Given the description of an element on the screen output the (x, y) to click on. 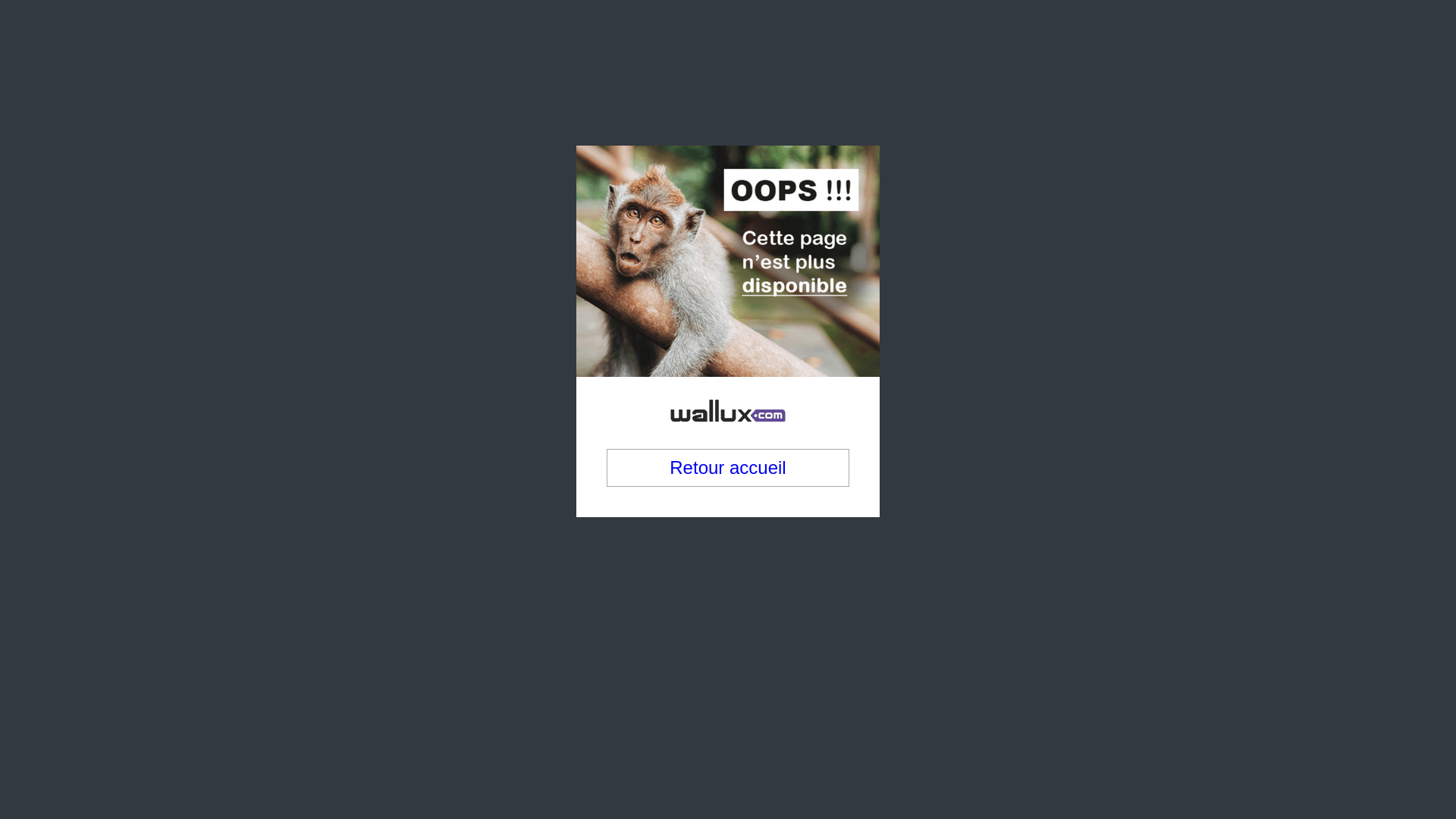
Retour accueil Element type: text (727, 385)
wallux.com Element type: hover (727, 296)
